Given the description of an element on the screen output the (x, y) to click on. 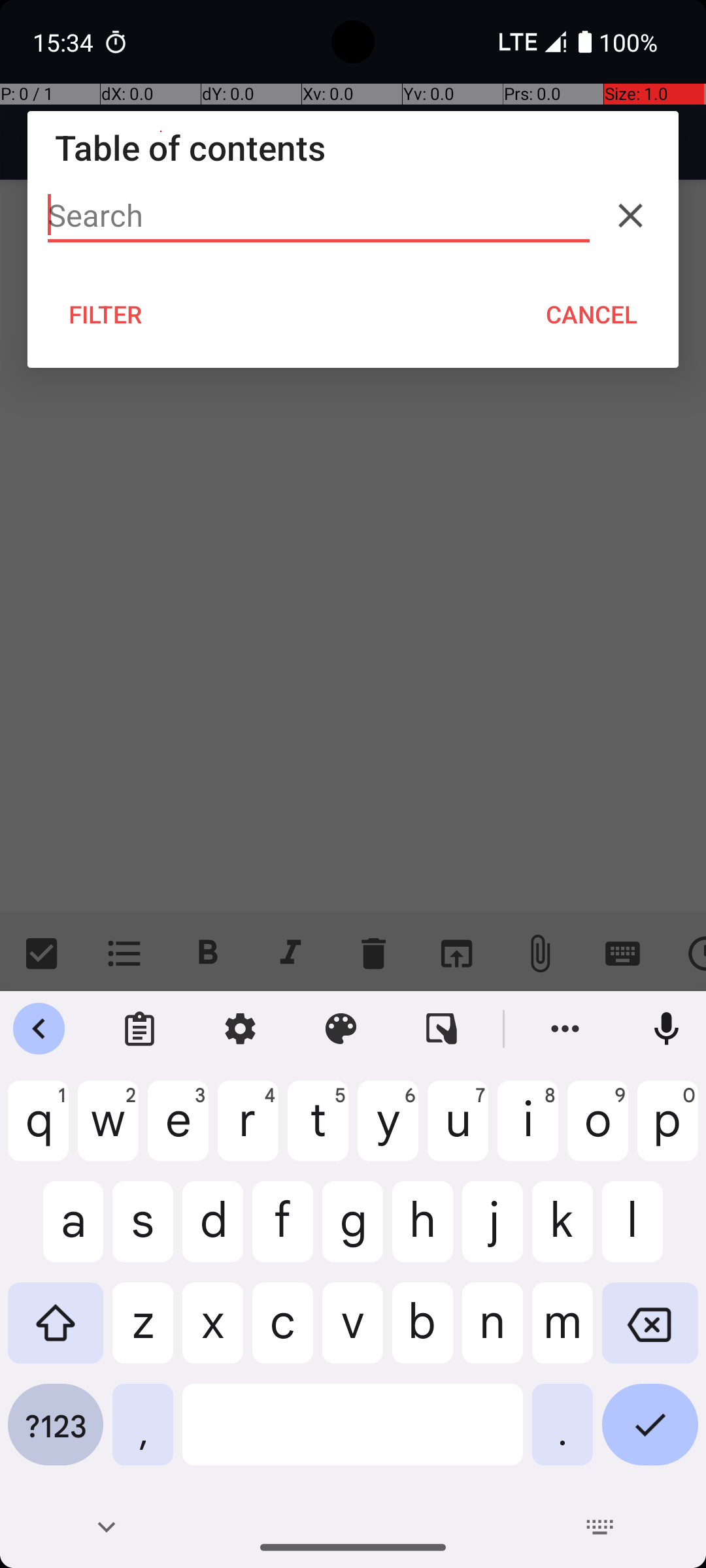
FILTER Element type: android.widget.Button (105, 313)
